Given the description of an element on the screen output the (x, y) to click on. 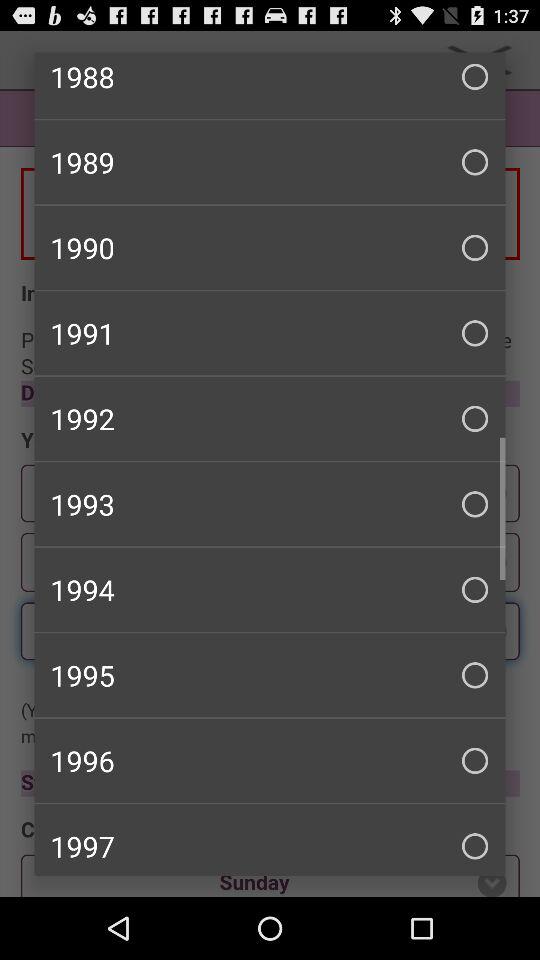
tap item above 1994 item (269, 504)
